Given the description of an element on the screen output the (x, y) to click on. 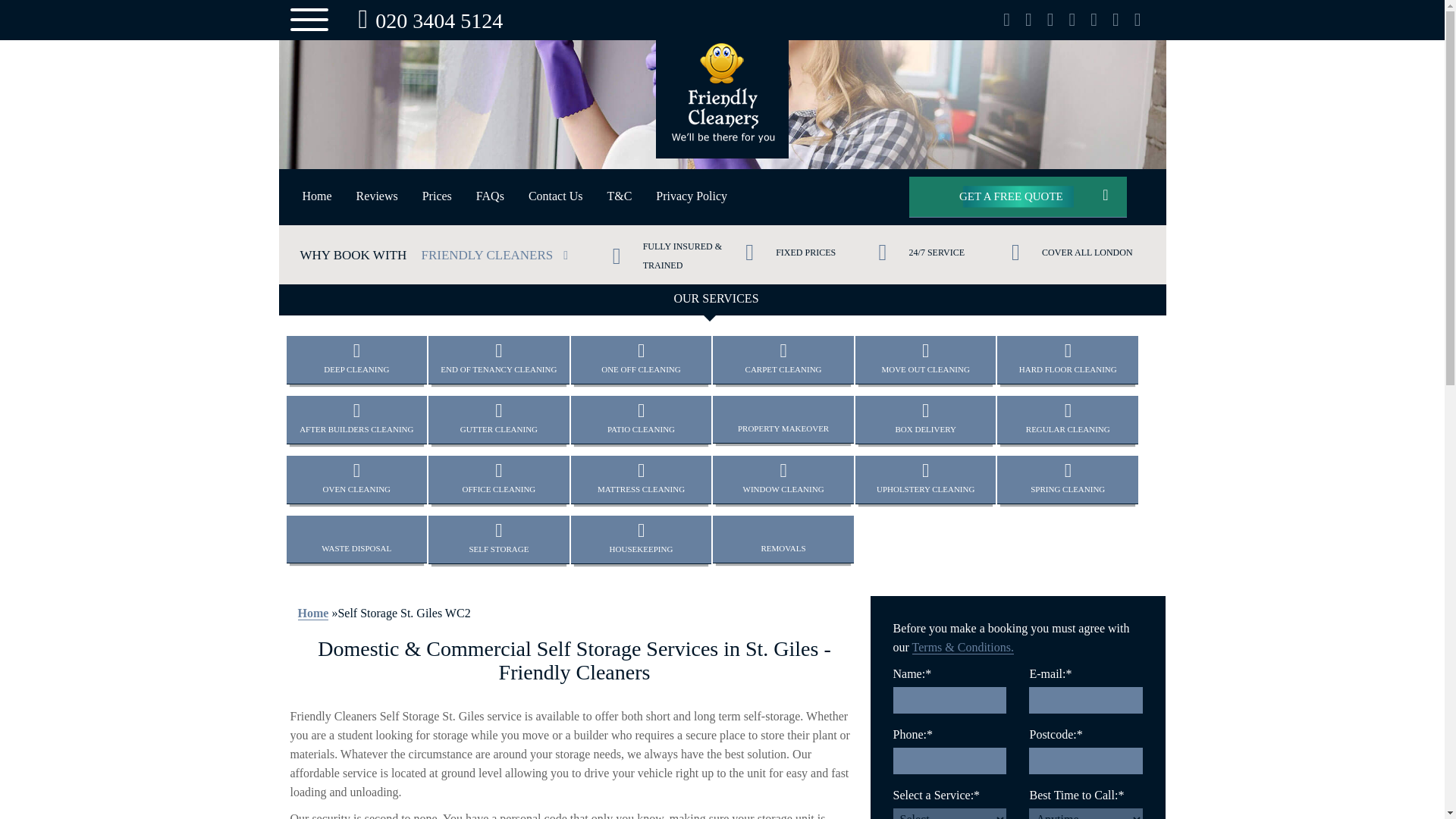
OFFICE CLEANING (498, 479)
GET A FREE QUOTE (1017, 196)
FAQs (490, 196)
Privacy Policy (691, 196)
PATIO CLEANING (640, 419)
ONE OFF CLEANING (640, 359)
MATTRESS CLEANING (640, 479)
MOVE OUT CLEANING (925, 359)
CARPET CLEANING (783, 359)
Privacy Policy (691, 196)
BOX DELIVERY (925, 419)
020 3404 5124 (426, 20)
OVEN CLEANING (357, 479)
WINDOW CLEANING (783, 479)
PROPERTY MAKEOVER (783, 419)
